Given the description of an element on the screen output the (x, y) to click on. 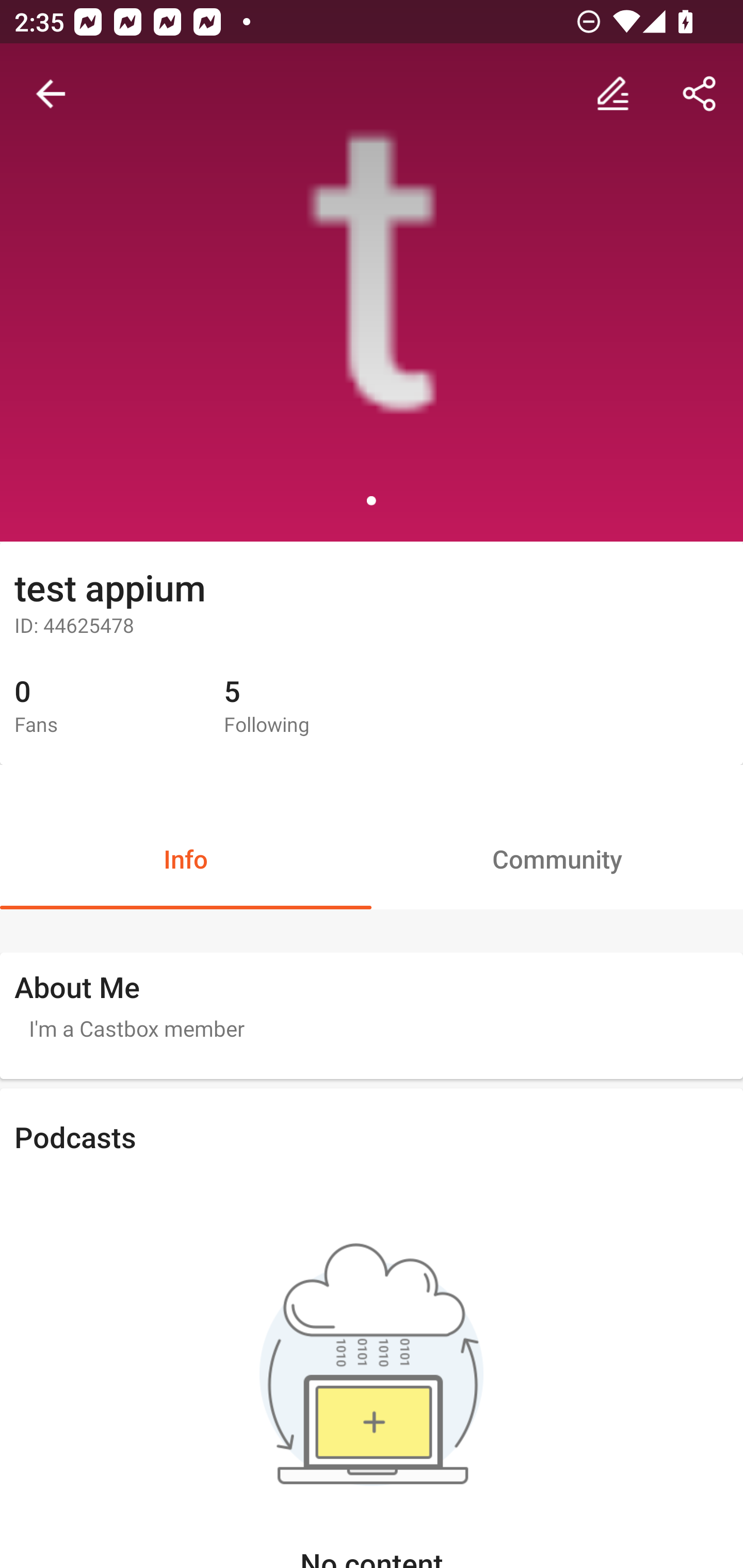
Navigate up (50, 93)
Edit (612, 93)
Share (699, 93)
0 Fans (104, 707)
5 Following (313, 707)
Info (185, 858)
Community (557, 858)
